Given the description of an element on the screen output the (x, y) to click on. 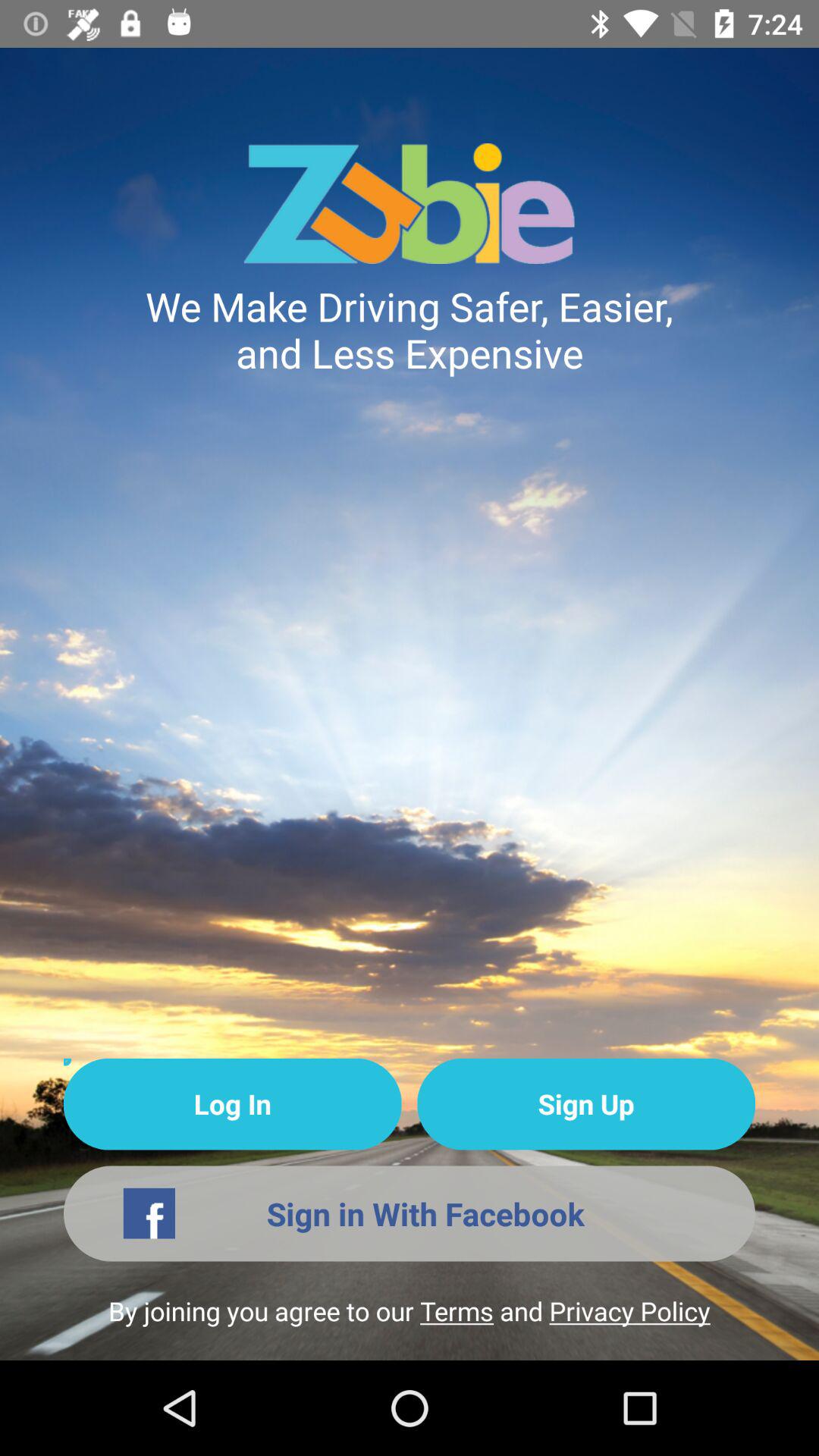
turn off icon next to sign up (232, 1104)
